Given the description of an element on the screen output the (x, y) to click on. 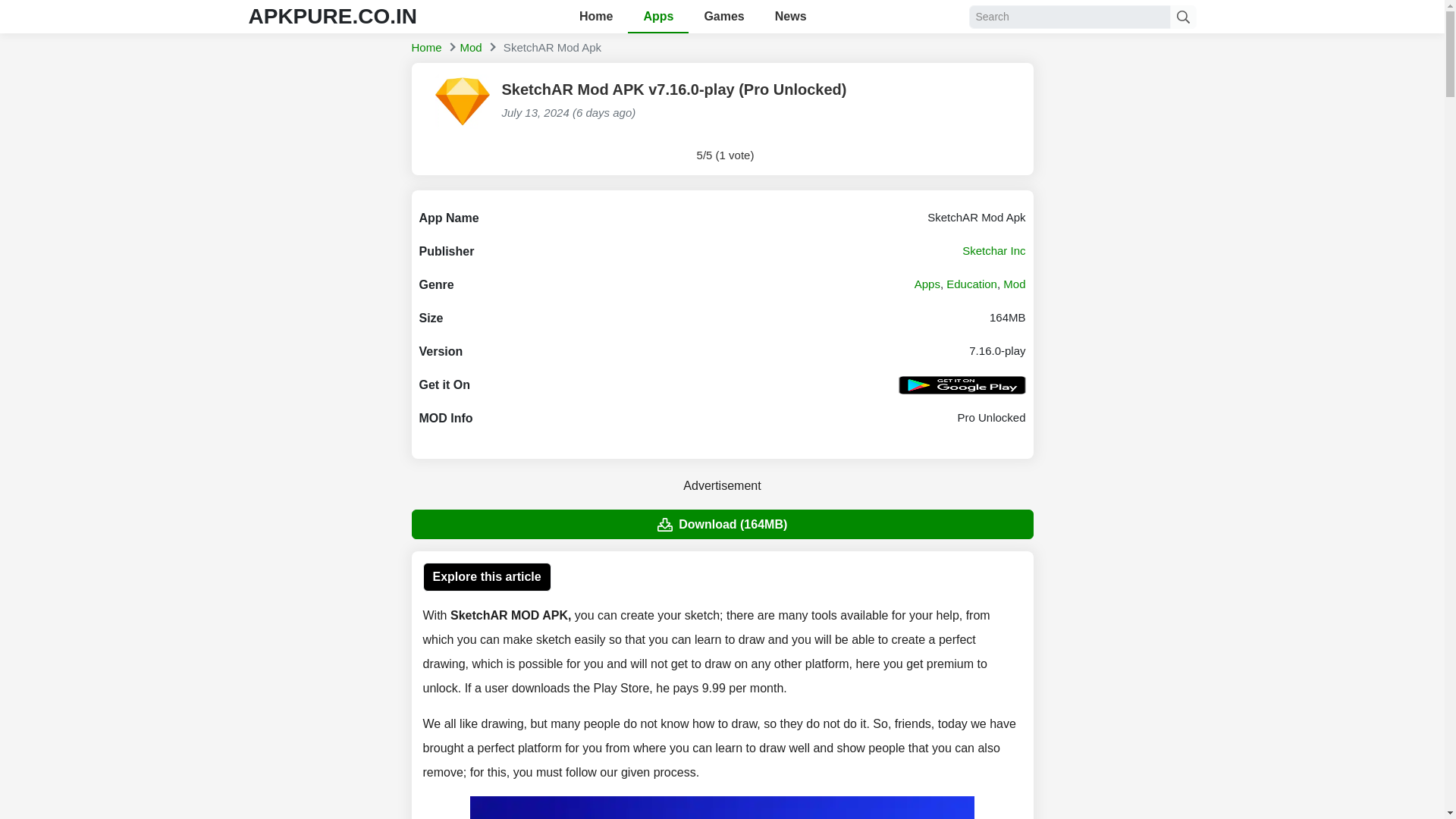
Mod (470, 47)
Apps (657, 16)
APKPURE.CO.IN (332, 15)
News (791, 16)
Apps (927, 283)
Home (425, 47)
Home (595, 16)
Mod (1014, 283)
Home (425, 47)
Games (723, 16)
Explore this article (487, 576)
Sketchar Inc (993, 250)
Education (971, 283)
